Given the description of an element on the screen output the (x, y) to click on. 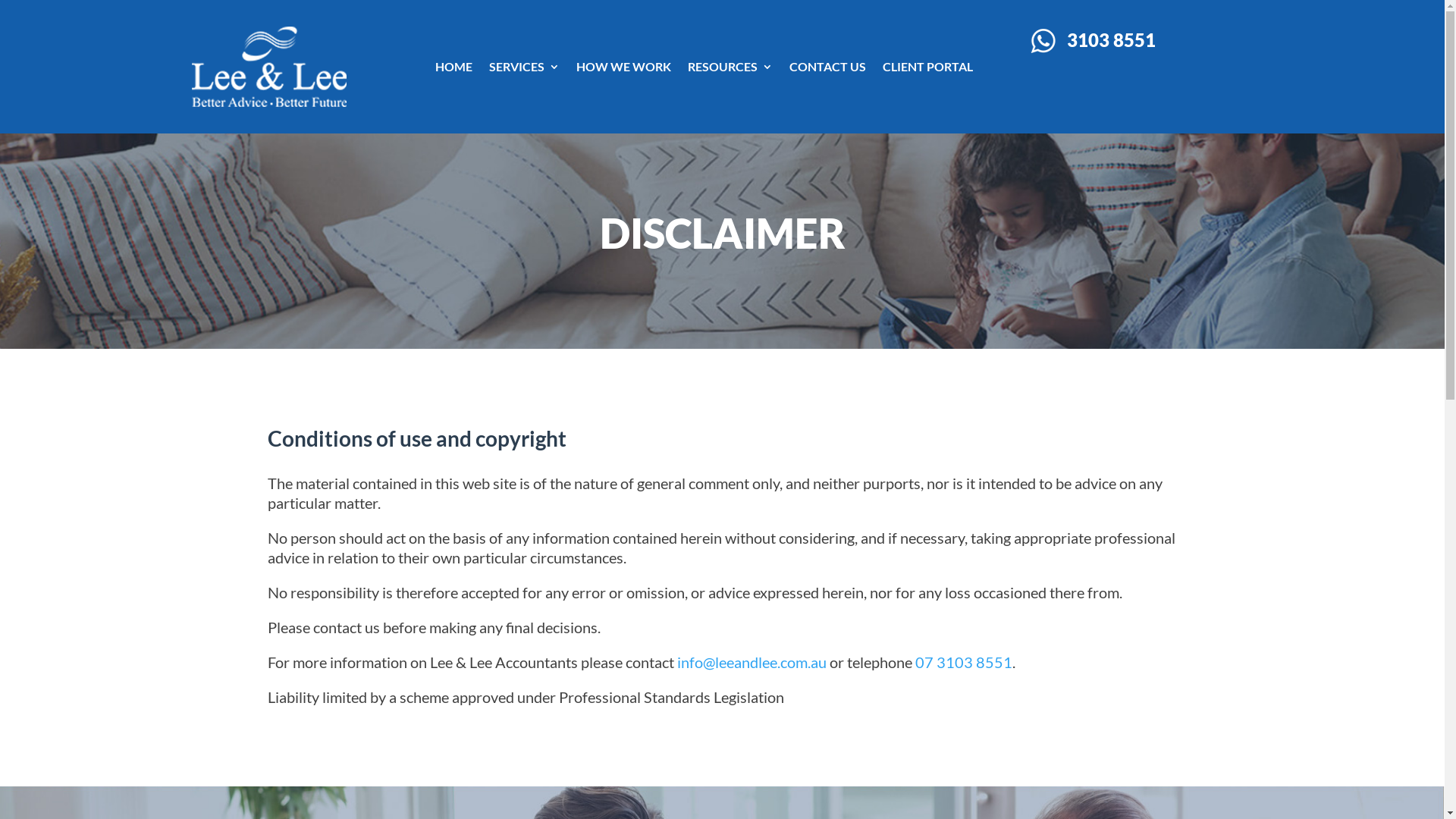
HOW WE WORK Element type: text (623, 66)
07 3103 8551 Element type: text (962, 661)
HOME Element type: text (453, 66)
CONTACT US Element type: text (827, 66)
RESOURCES Element type: text (729, 66)
CLIENT PORTAL Element type: text (927, 66)
SERVICES Element type: text (524, 66)
info@leeandlee.com.au Element type: text (750, 661)
